Given the description of an element on the screen output the (x, y) to click on. 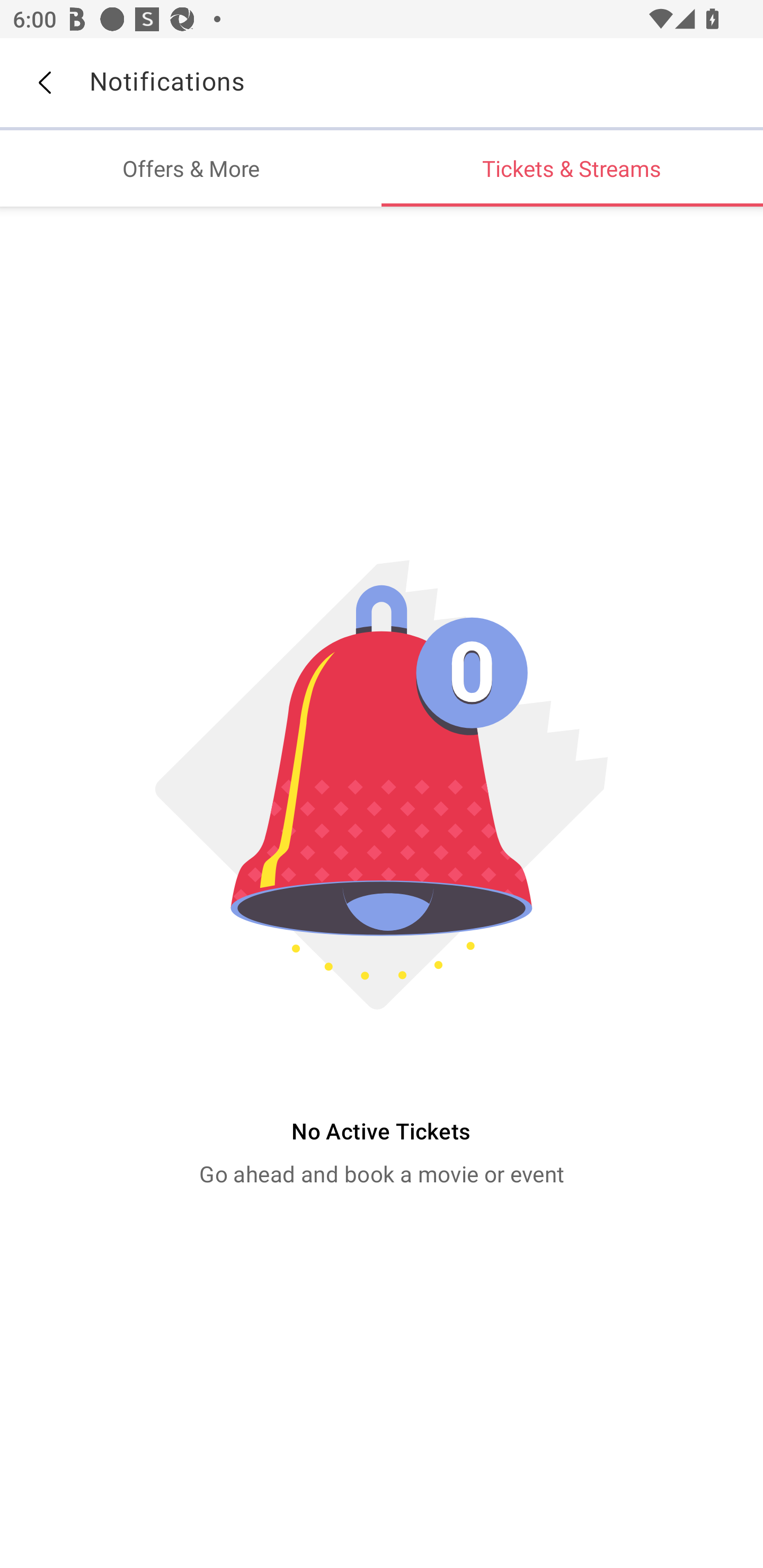
Back (44, 82)
Offers & More (190, 168)
